Given the description of an element on the screen output the (x, y) to click on. 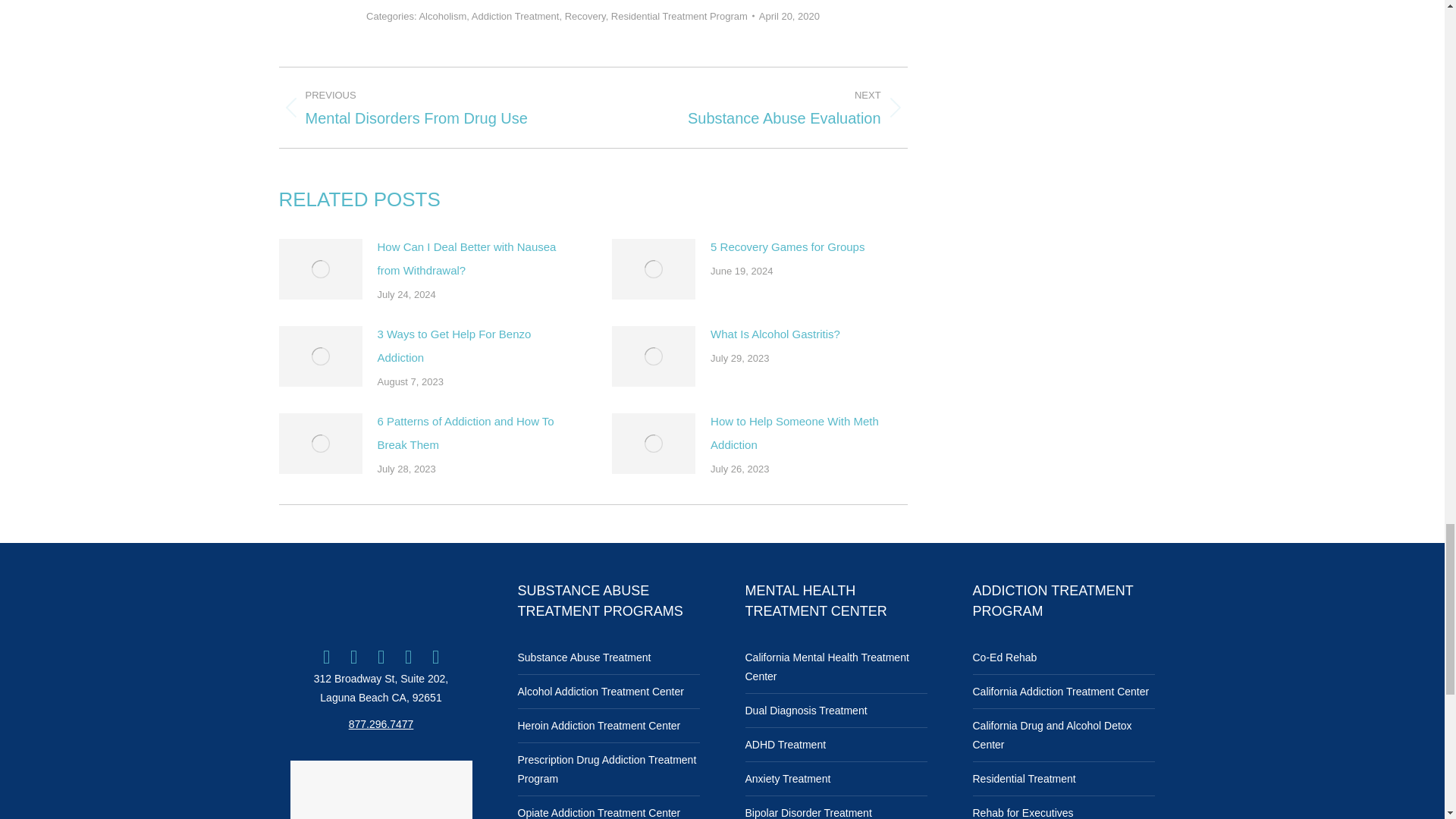
9:00 am (788, 16)
Twitter (353, 657)
YouTube (408, 657)
Facebook (326, 657)
Ocean-Recovery-Logo-450 (380, 600)
Instagram (381, 657)
Pinterest (435, 657)
